Given the description of an element on the screen output the (x, y) to click on. 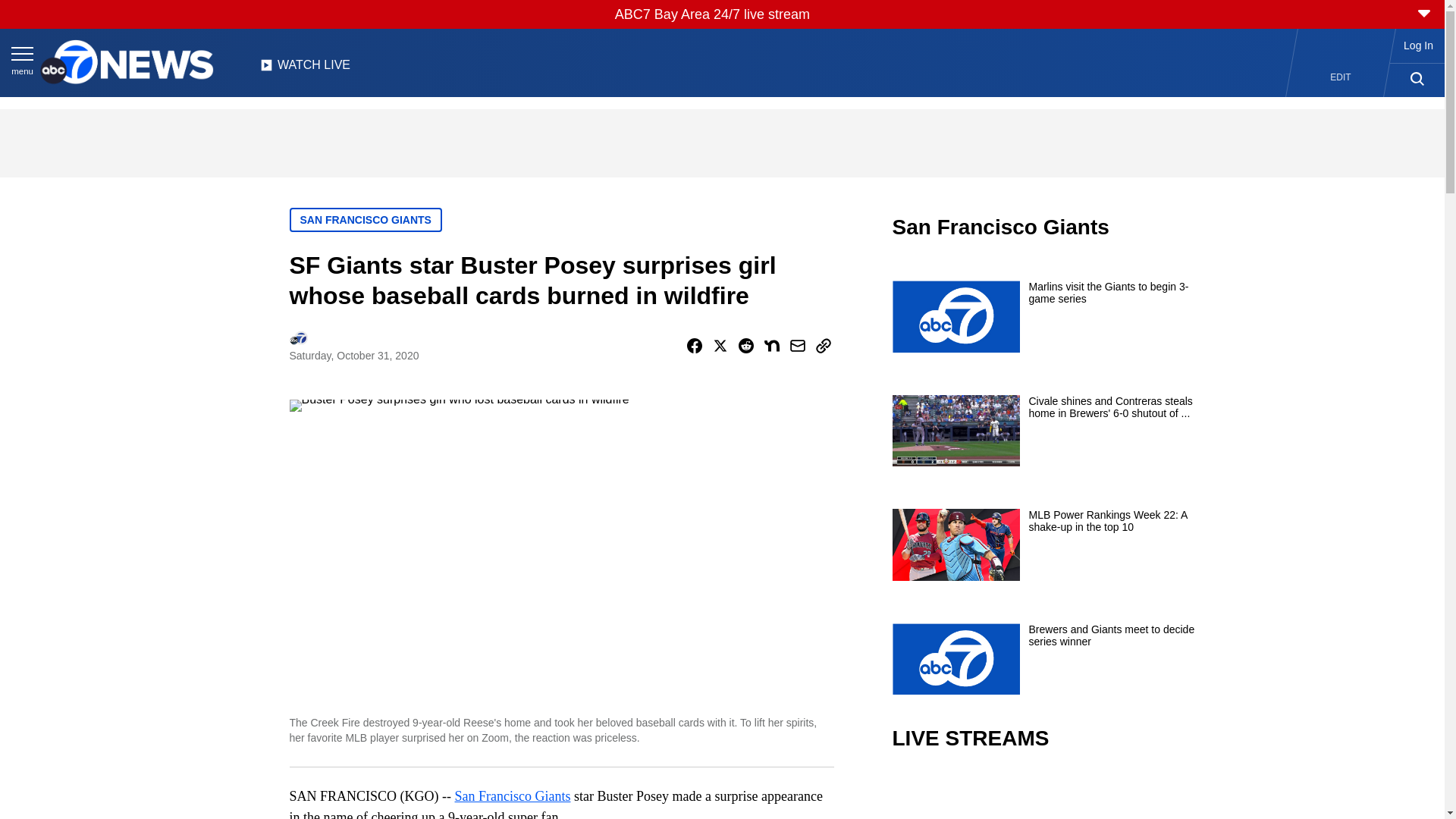
video.title (1043, 796)
EDIT (1340, 77)
WATCH LIVE (305, 69)
